Given the description of an element on the screen output the (x, y) to click on. 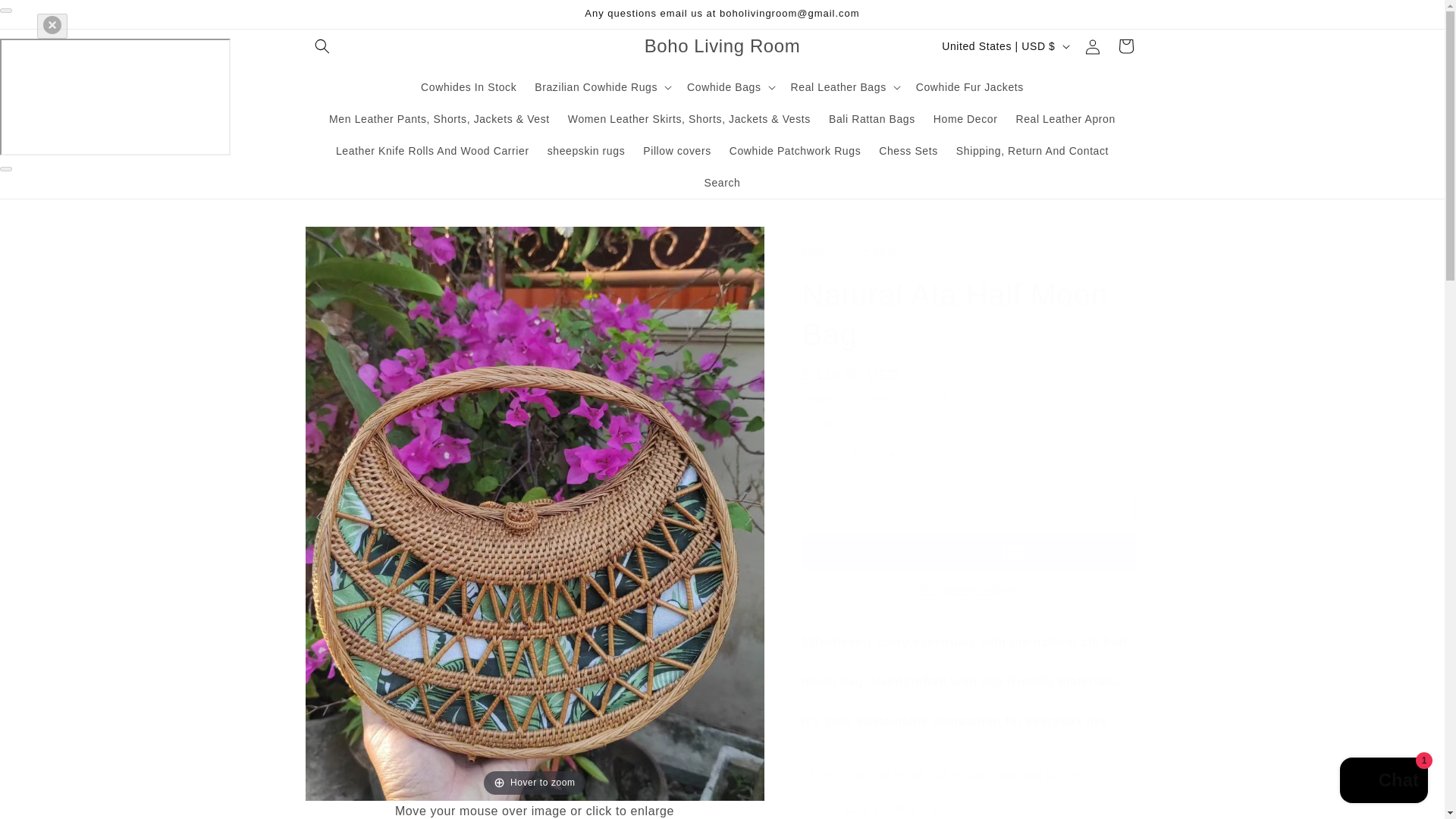
1 (856, 454)
Next slide (748, 517)
Previous slide (319, 517)
Skip to content (45, 17)
Shopify online store chat (1383, 781)
